Given the description of an element on the screen output the (x, y) to click on. 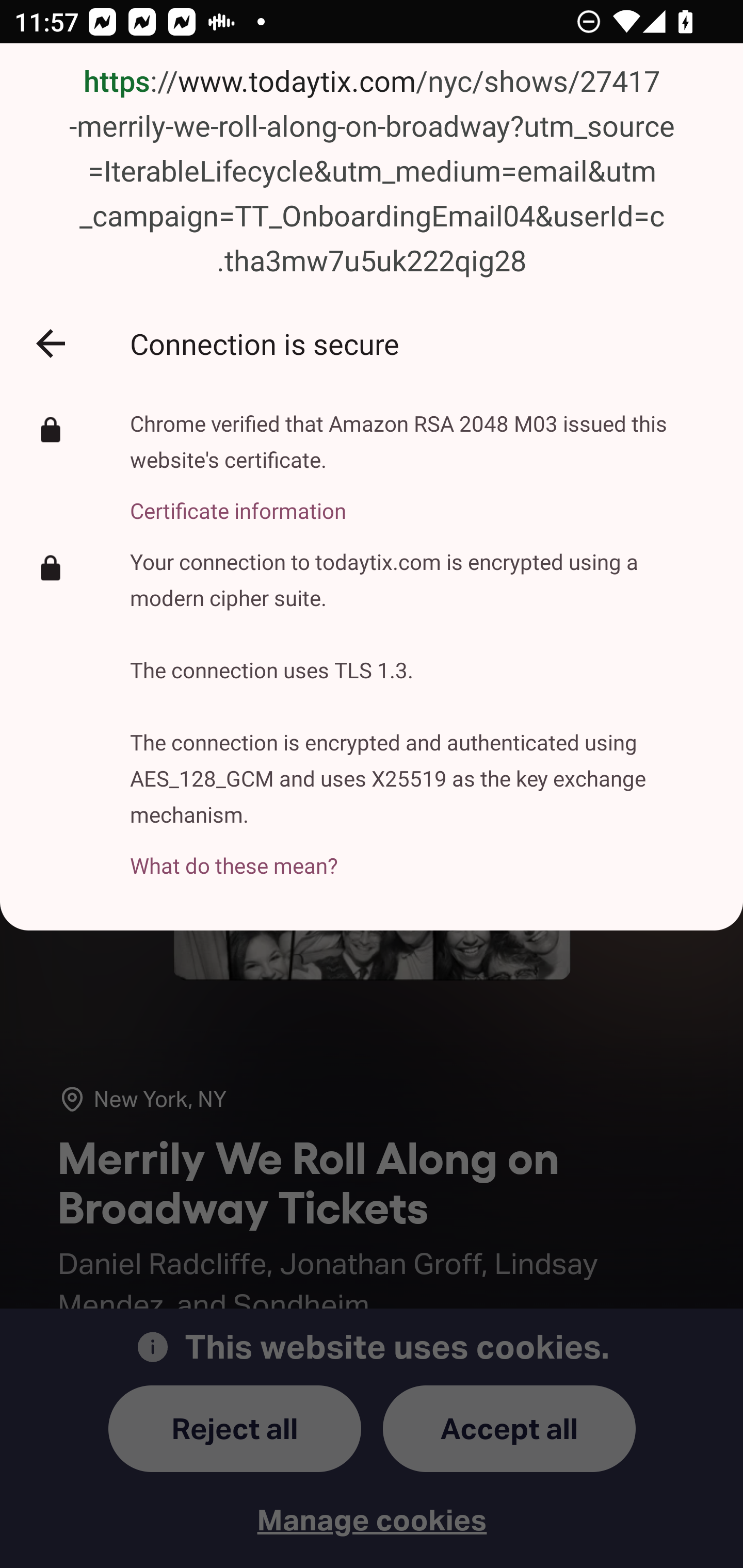
Back (50, 343)
Certificate information (422, 499)
What do these mean? (422, 854)
